Given the description of an element on the screen output the (x, y) to click on. 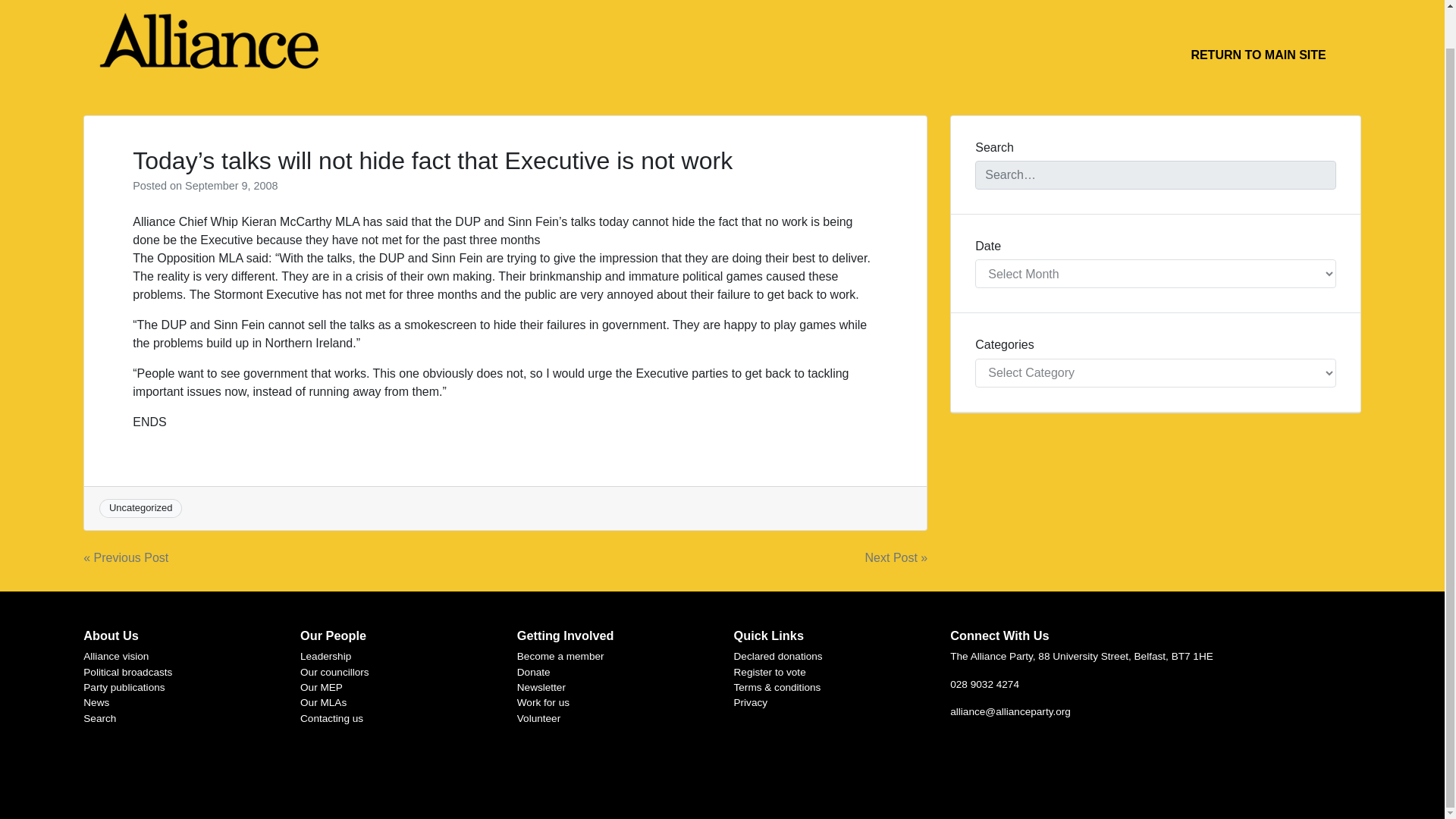
Our MEP (320, 686)
Leadership (324, 655)
RETURN TO MAIN SITE (1257, 55)
Declared donations (777, 655)
Newsletter (541, 686)
Volunteer (538, 717)
Political broadcasts (126, 672)
Party publications (123, 686)
Contacting us (330, 717)
Search (99, 717)
